Given the description of an element on the screen output the (x, y) to click on. 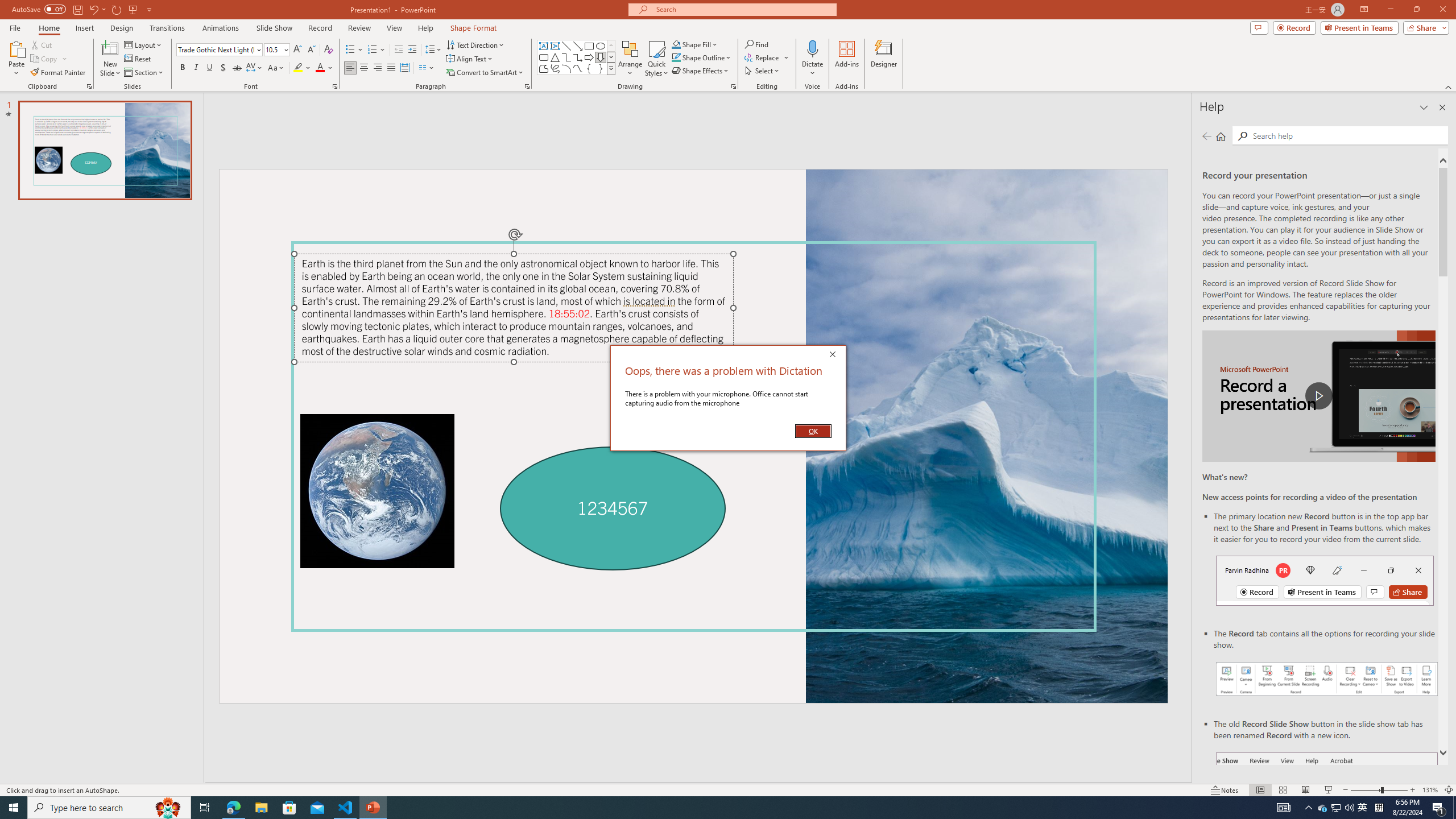
AutoSave (38, 9)
Ribbon Display Options (1364, 9)
Columns (426, 67)
Collapse the Ribbon (1448, 86)
Shadow (223, 67)
Rectangle: Rounded Corners (543, 57)
Curve (577, 68)
Row Down (611, 56)
Search highlights icon opens search home window (167, 807)
Replace... (762, 56)
Isosceles Triangle (554, 57)
Share (1423, 27)
Microsoft search (742, 9)
Running applications (700, 807)
More Options (812, 68)
